Given the description of an element on the screen output the (x, y) to click on. 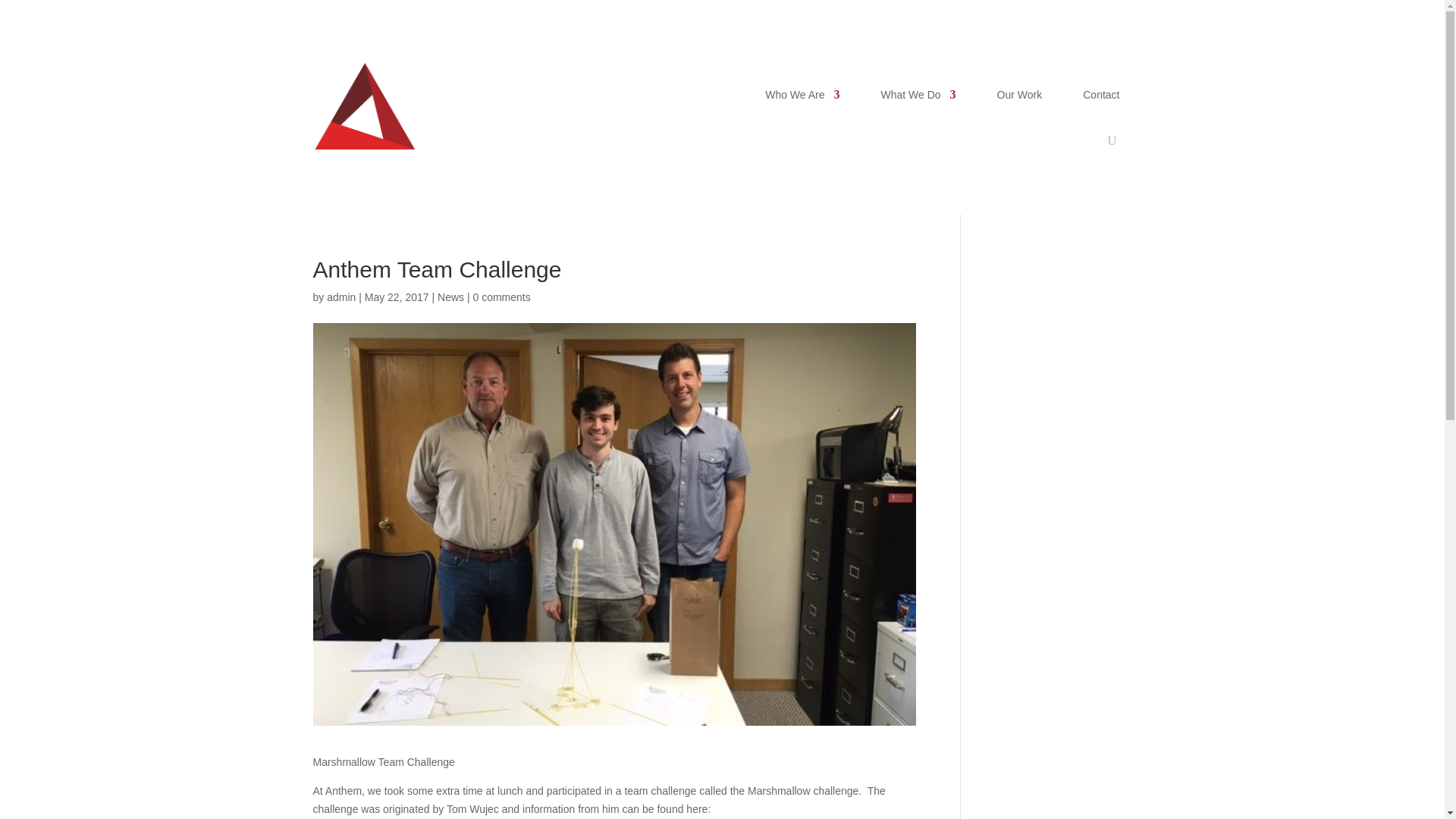
Posts by admin (340, 297)
admin (340, 297)
News (451, 297)
What We Do (918, 94)
Who We Are (802, 94)
0 comments (500, 297)
